Given the description of an element on the screen output the (x, y) to click on. 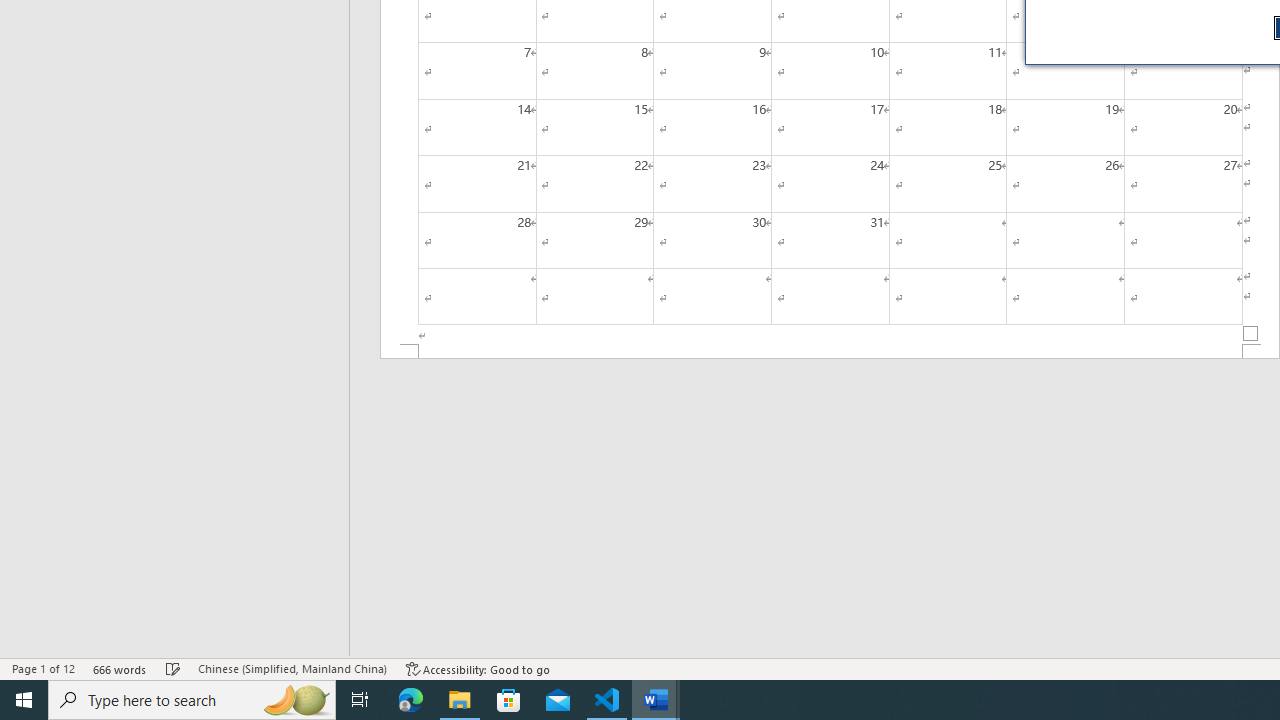
Microsoft Store (509, 699)
